Given the description of an element on the screen output the (x, y) to click on. 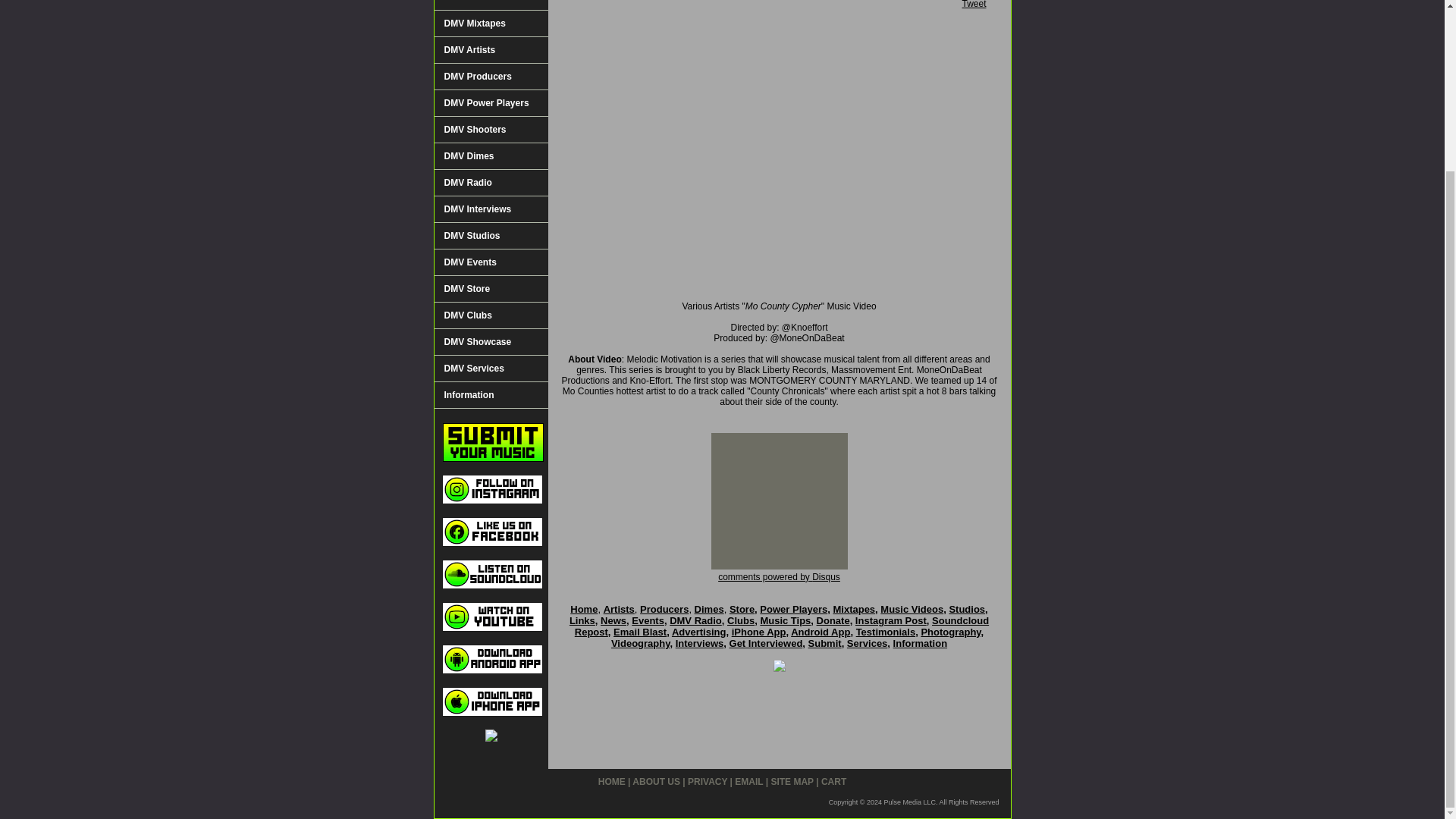
Mixtapes (853, 609)
Clubs (740, 620)
Producers (664, 609)
DMV Power Players (490, 103)
DMV Showcase (490, 342)
DMV Music Videos (490, 5)
DMV Store (490, 289)
Store (741, 609)
Videography (640, 643)
Studios (967, 609)
comments powered by Disqus (778, 576)
DMV Clubs (490, 315)
Donate (833, 620)
DMV Services (490, 368)
Interviews (699, 643)
